Given the description of an element on the screen output the (x, y) to click on. 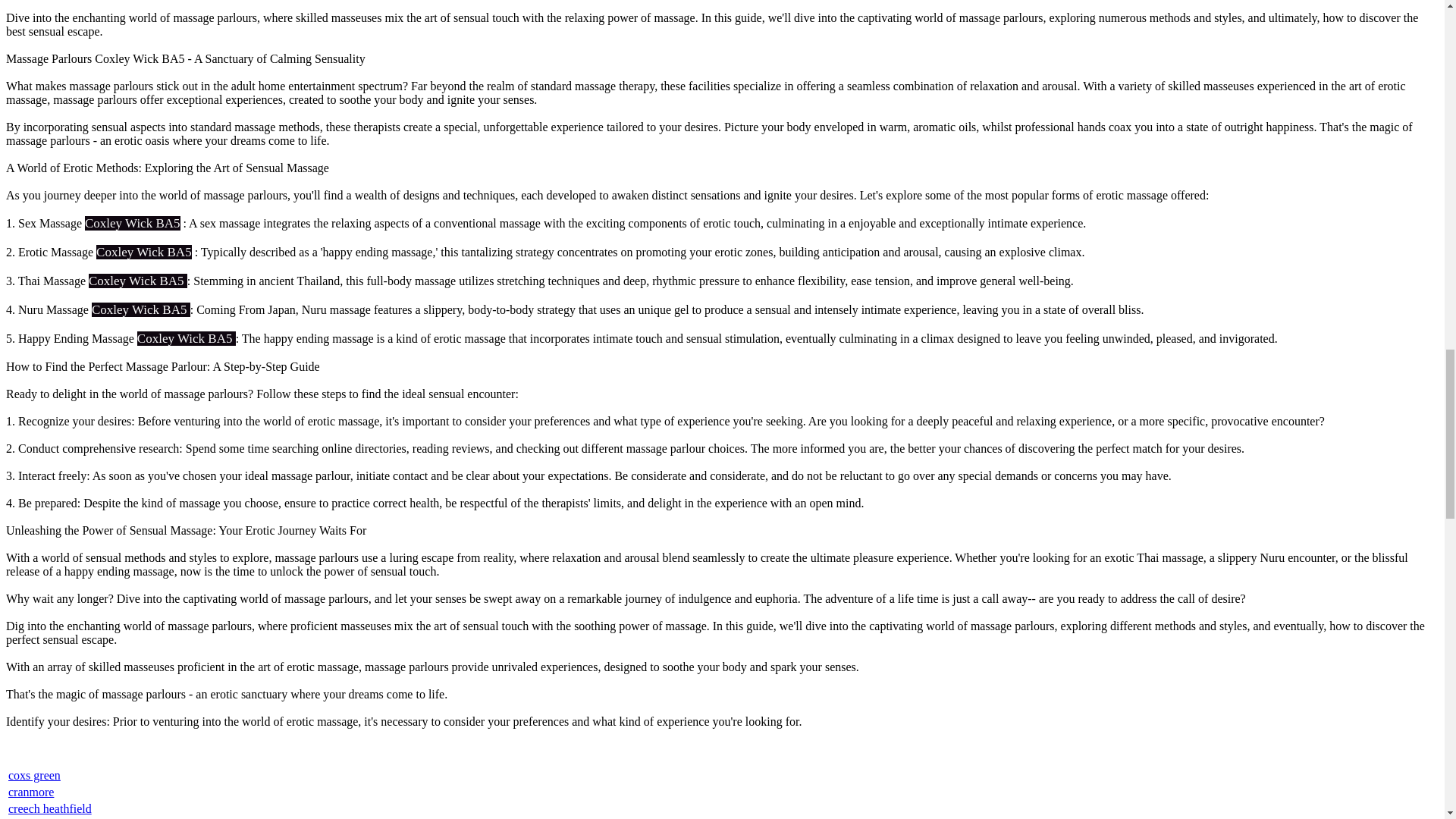
cranmore (30, 791)
creech heathfield (49, 808)
coxs green (34, 775)
